Given the description of an element on the screen output the (x, y) to click on. 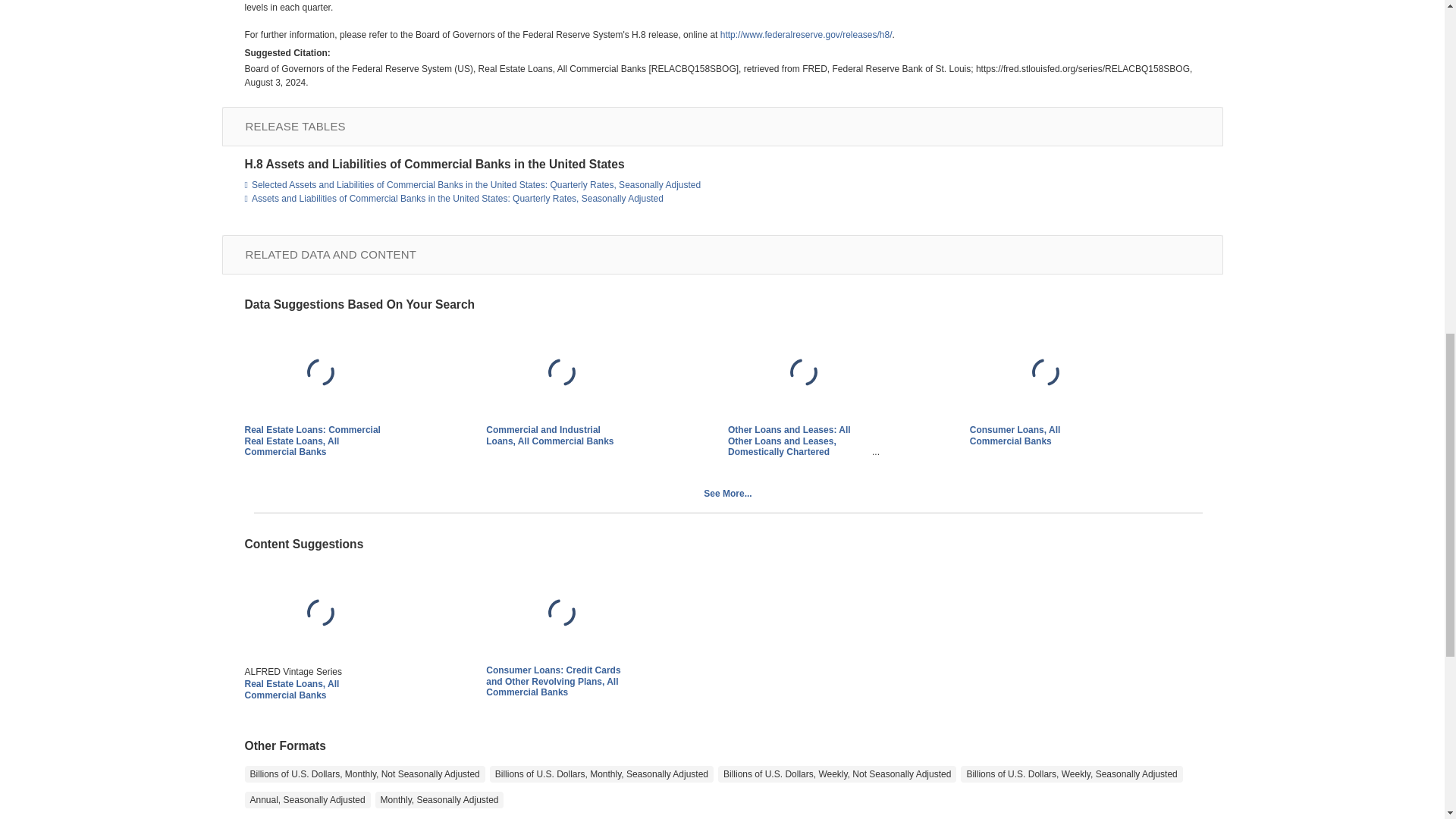
Consumer Loans, All Commercial Banks (1015, 435)
Consumer Loans, All Commercial Banks (1045, 373)
Commercial and Industrial Loans, All Commercial Banks (561, 373)
Commercial and Industrial Loans, All Commercial Banks (549, 435)
